Given the description of an element on the screen output the (x, y) to click on. 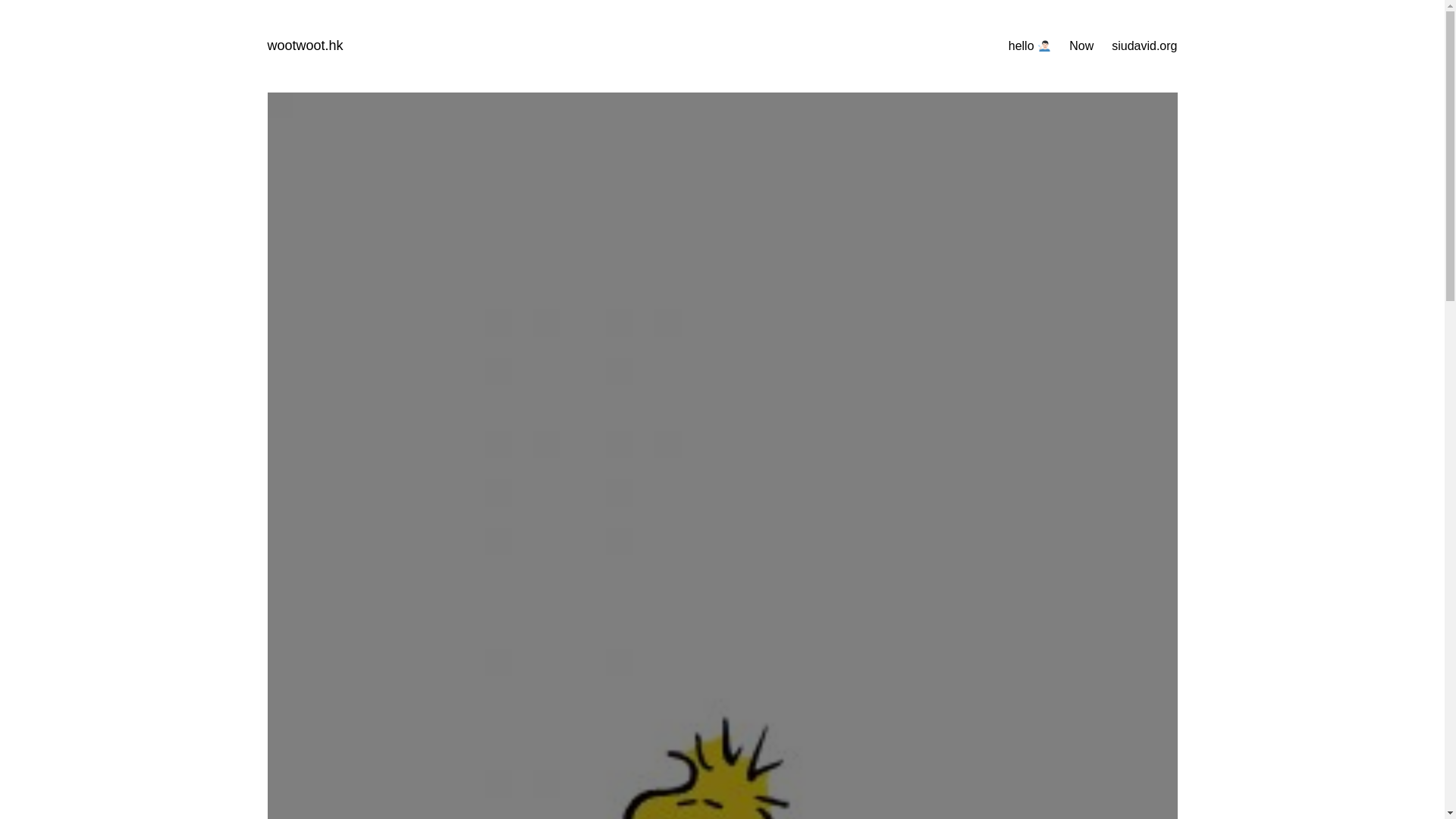
wootwoot.hk (304, 45)
Now (1080, 46)
hello (1030, 46)
siudavid.org (1144, 46)
